Given the description of an element on the screen output the (x, y) to click on. 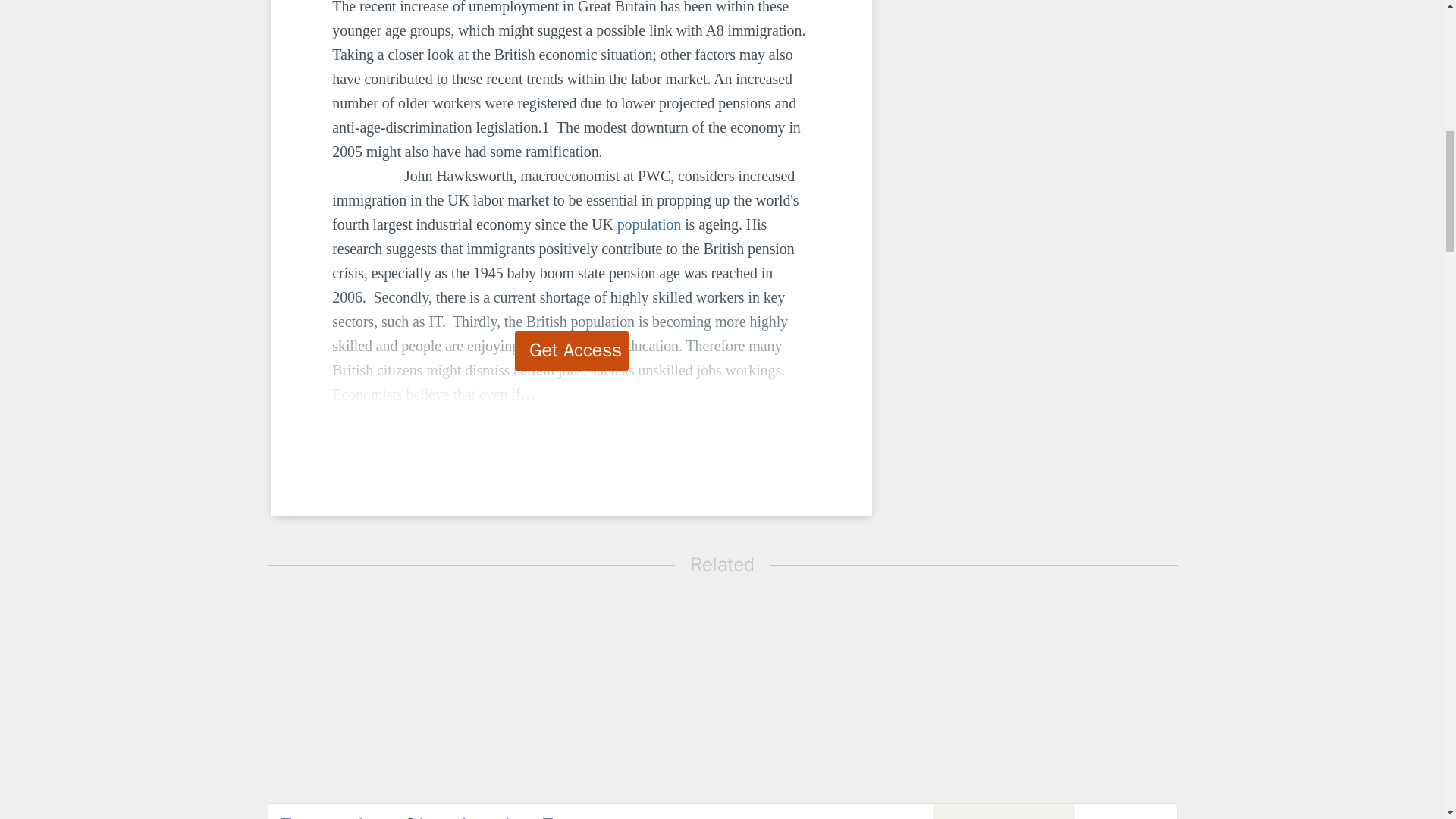
Economics of Immigration Essay (548, 815)
population (649, 224)
Get Access (571, 351)
